Given the description of an element on the screen output the (x, y) to click on. 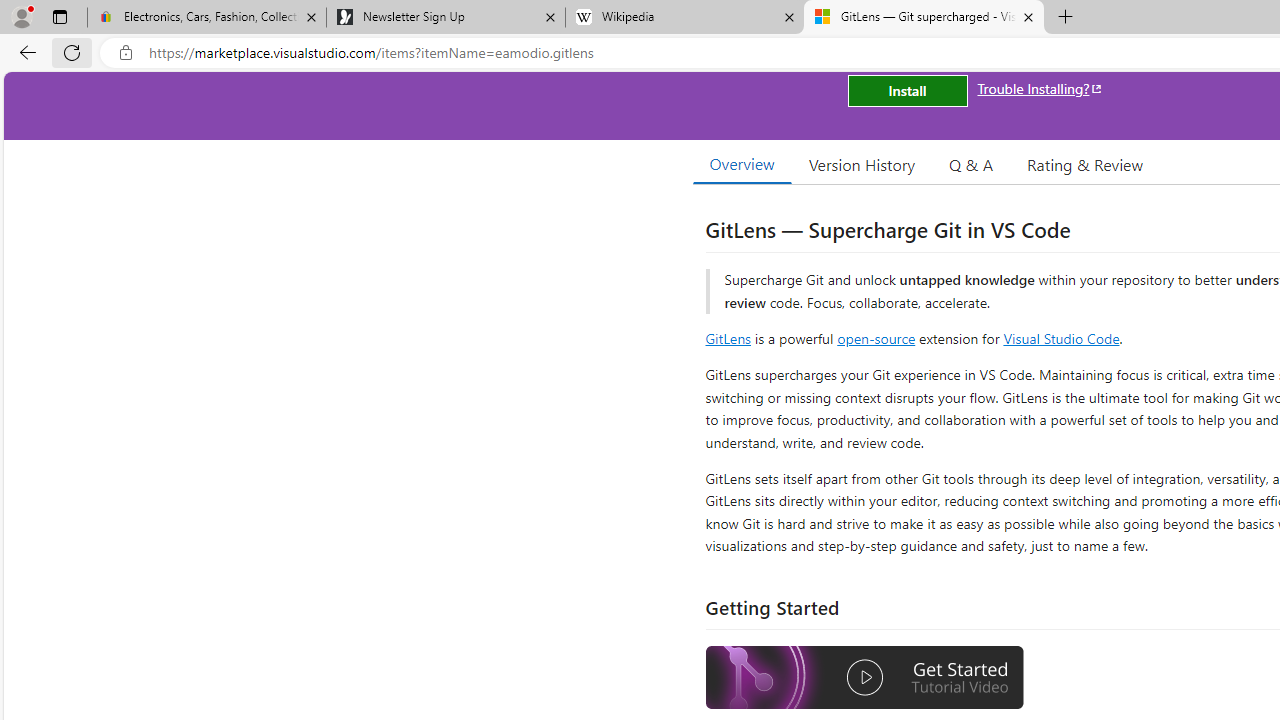
GitLens (728, 337)
open-source (876, 337)
Newsletter Sign Up (445, 17)
Watch the GitLens Getting Started video (865, 679)
Wikipedia (684, 17)
Overview (742, 164)
Install (907, 90)
Rating & Review (1084, 164)
